Given the description of an element on the screen output the (x, y) to click on. 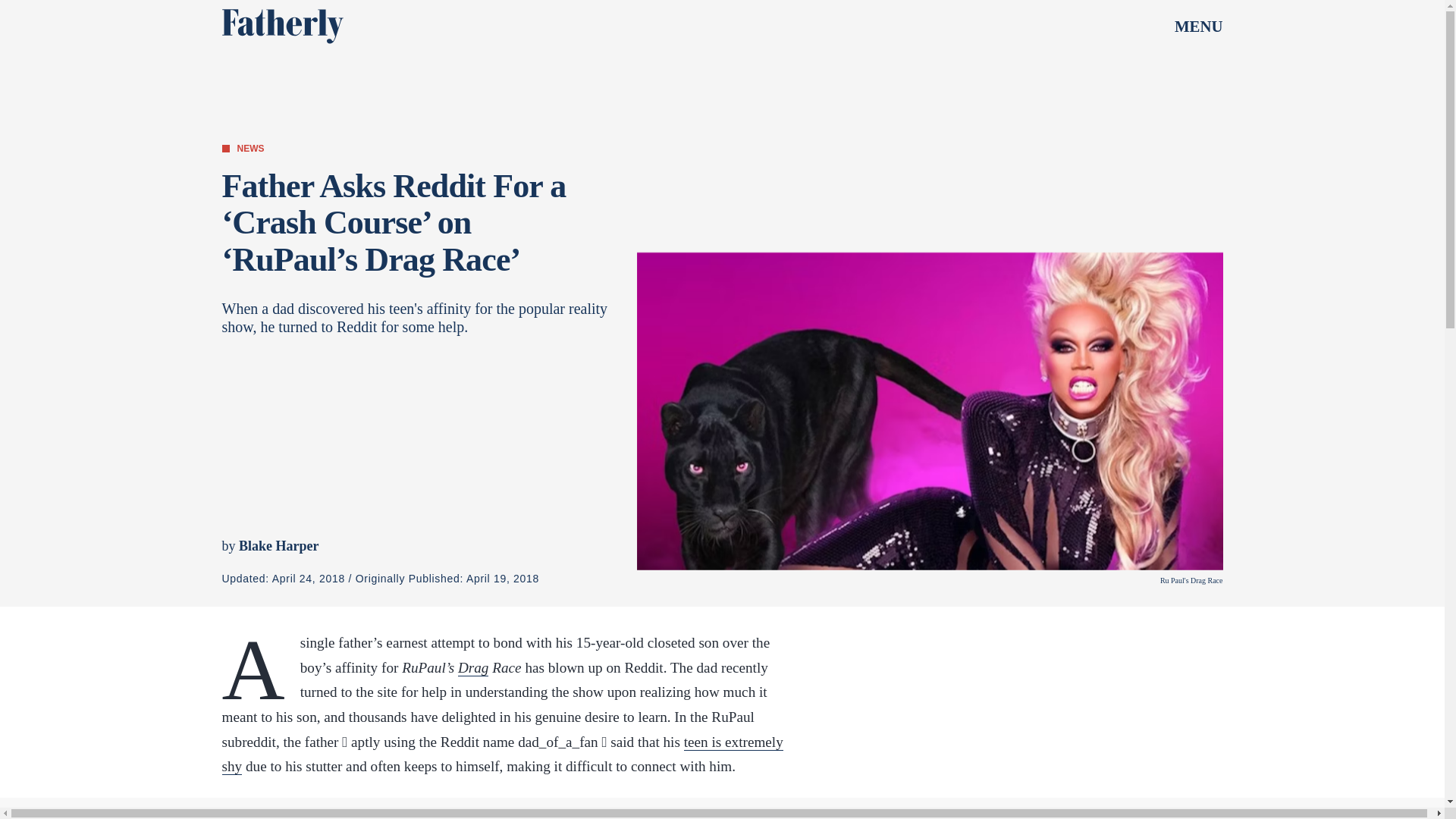
teen is extremely shy (502, 754)
Fatherly (281, 26)
Drag (473, 668)
Blake Harper (278, 545)
